Given the description of an element on the screen output the (x, y) to click on. 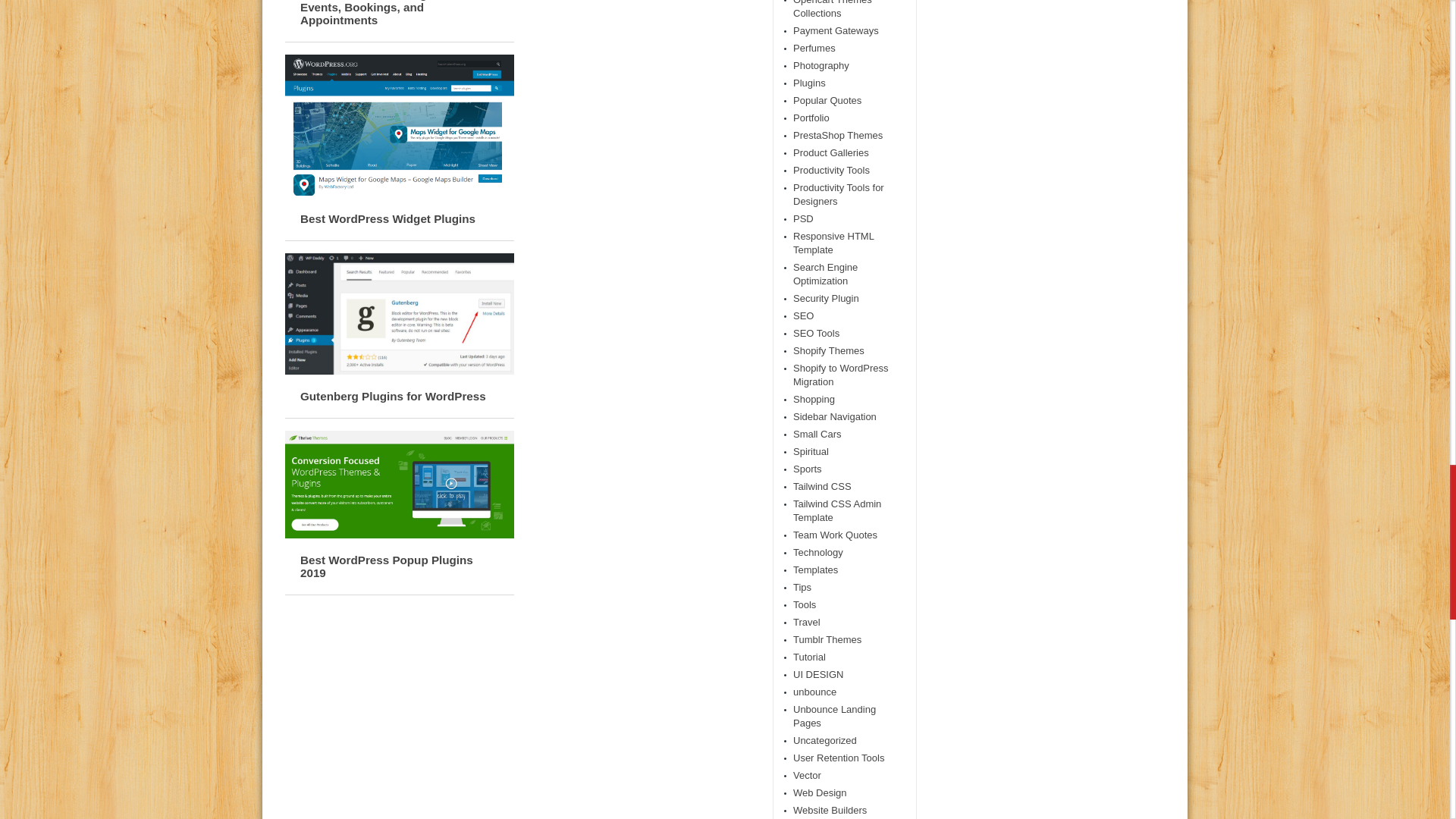
Permalink to Best WordPress Widget Plugins (399, 193)
Permalink to Best WordPress Widget Plugins (387, 218)
Permalink to Gutenberg Plugins for WordPress (392, 395)
Gutenberg Plugins for WordPress (392, 395)
Permalink to Gutenberg Plugins for WordPress (399, 370)
Best WordPress Widget Plugins (387, 218)
Permalink to Best WordPress Popup Plugins 2019 (386, 566)
Permalink to Best WordPress Popup Plugins 2019 (399, 534)
